Given the description of an element on the screen output the (x, y) to click on. 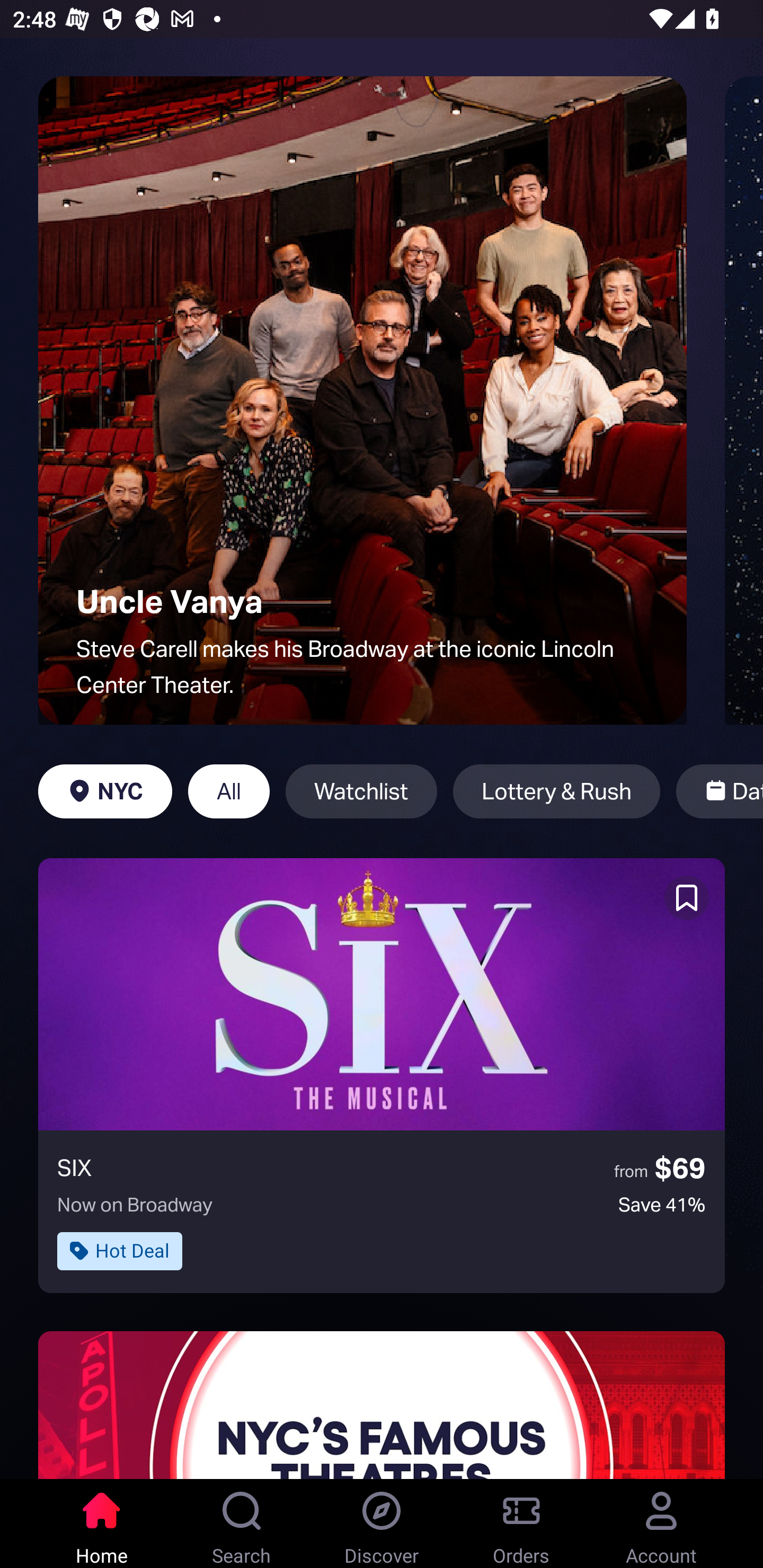
NYC (105, 791)
All (228, 791)
Watchlist (361, 791)
Lottery & Rush (556, 791)
Date (719, 791)
SIX from $69 Now on Broadway Save 41% Hot Deal (381, 1075)
Search (241, 1523)
Discover (381, 1523)
Orders (521, 1523)
Account (660, 1523)
